Given the description of an element on the screen output the (x, y) to click on. 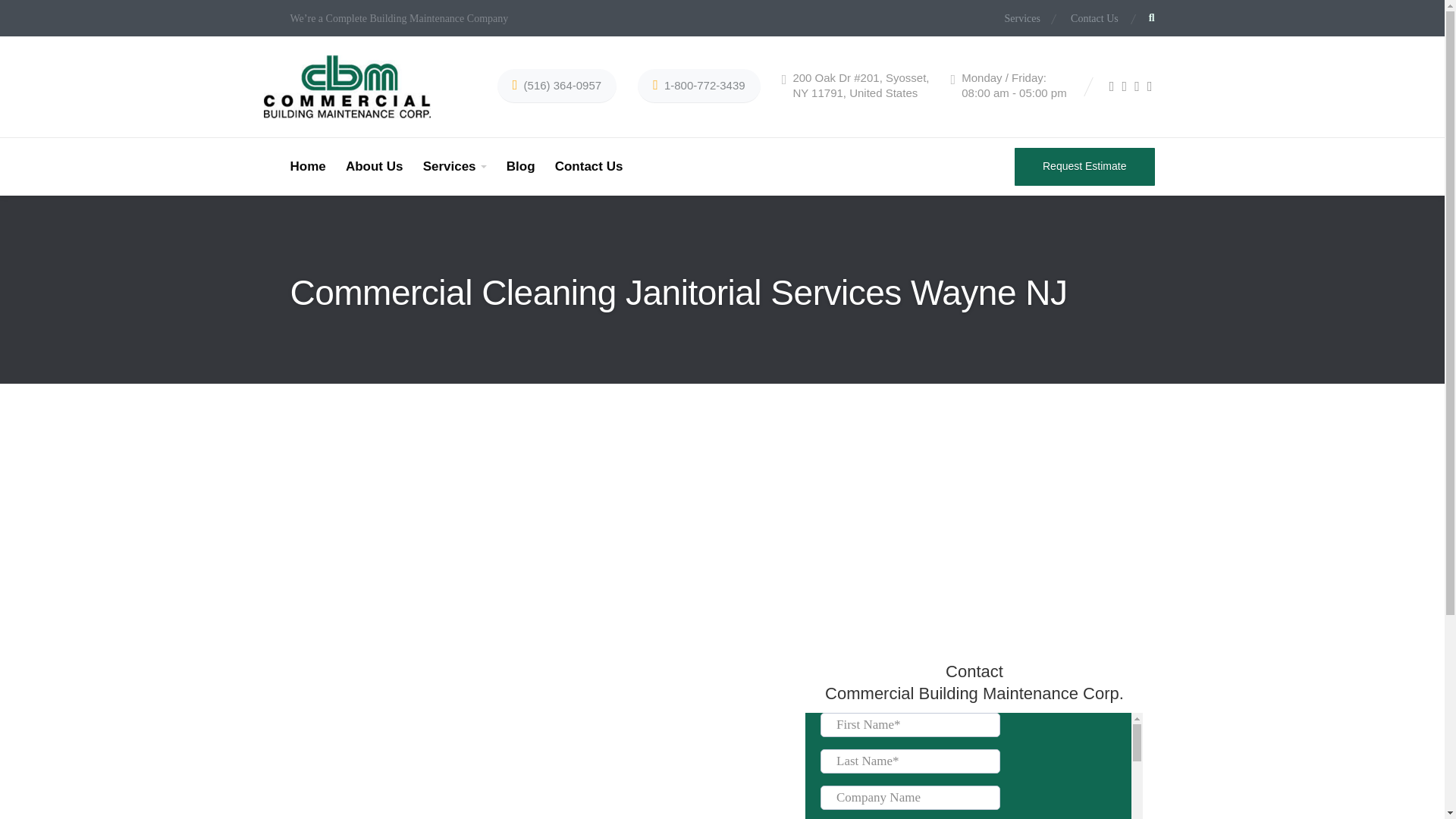
Services (1028, 18)
Request Estimate (1084, 166)
Search (1010, 409)
About Us (374, 166)
Contact Us (1087, 18)
1-800-772-3439 (698, 85)
Services (454, 166)
Contact Us (589, 166)
CBM Commercial Building Maintenance (346, 85)
